Given the description of an element on the screen output the (x, y) to click on. 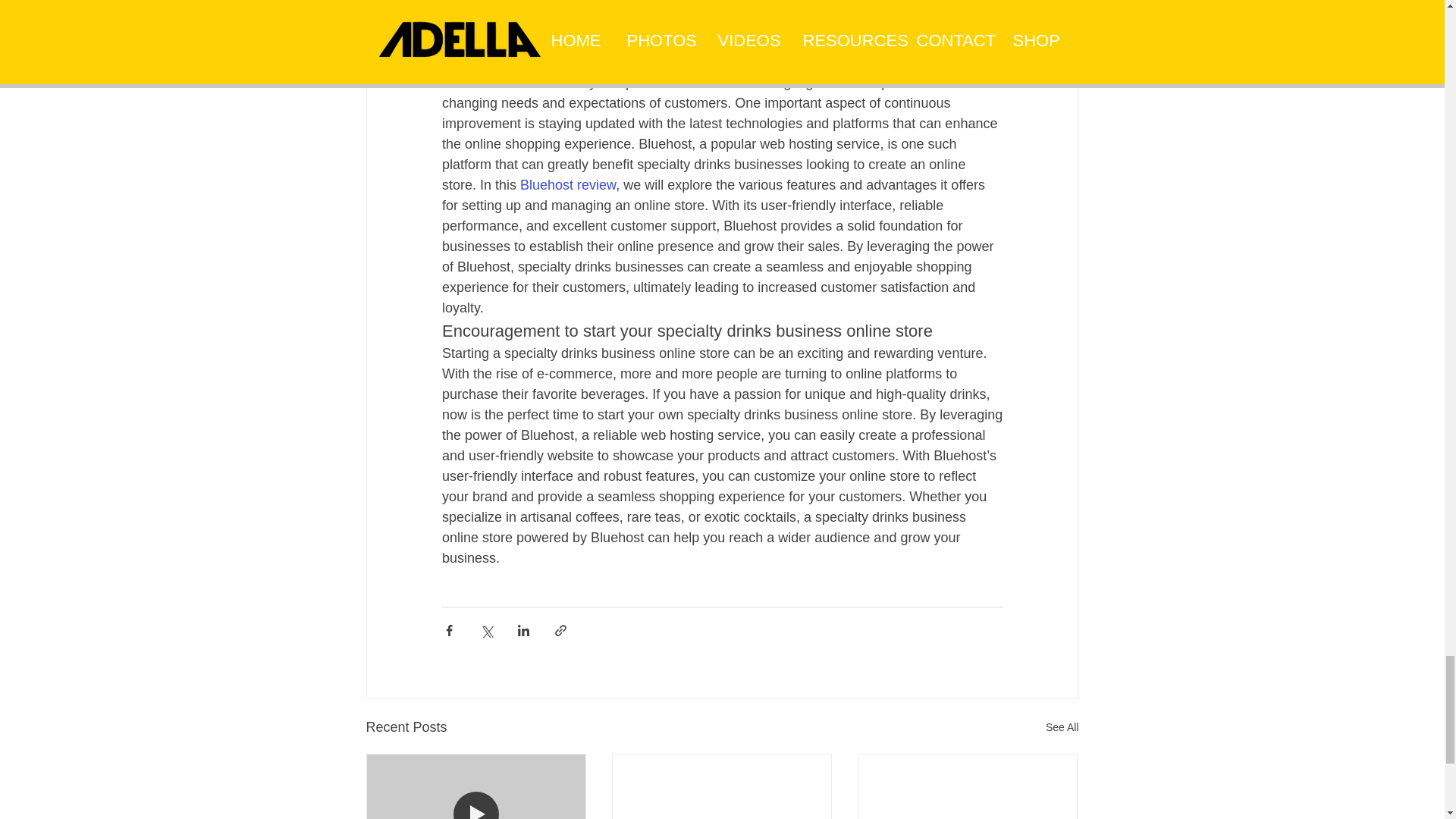
Bluehost review (567, 184)
See All (1061, 727)
